Given the description of an element on the screen output the (x, y) to click on. 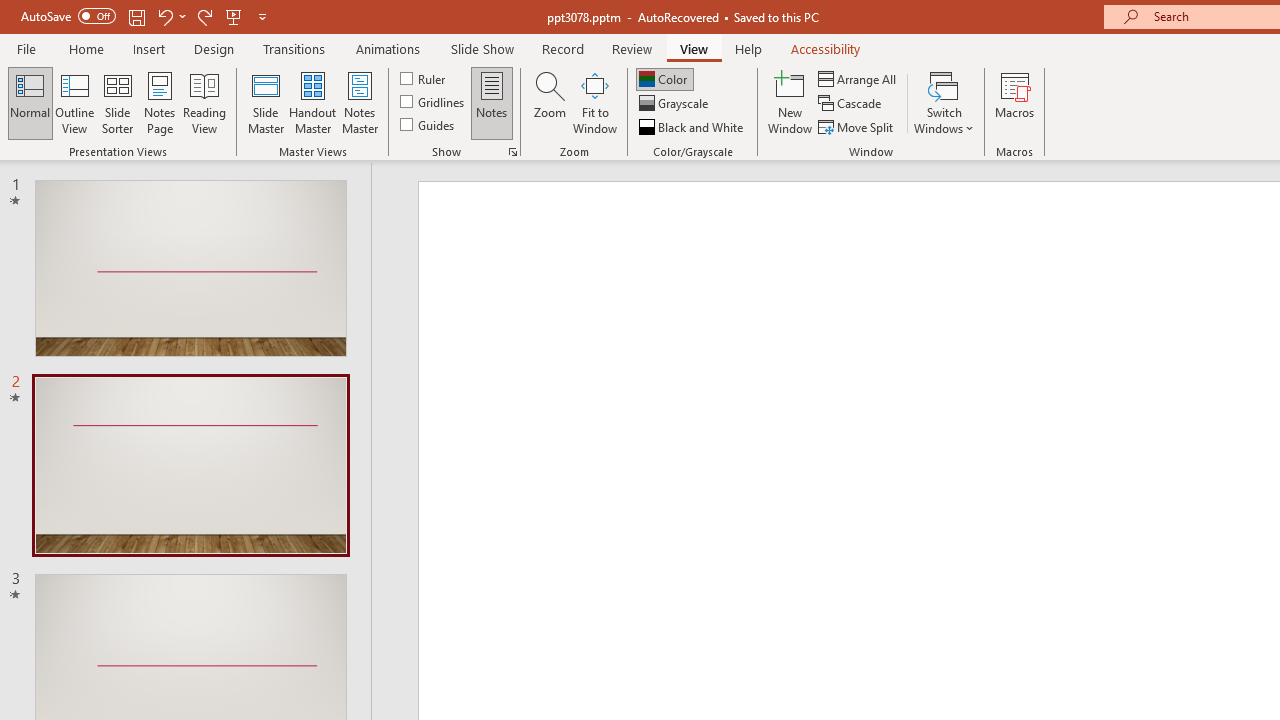
Notes (492, 102)
Gridlines (433, 101)
Macros (1014, 102)
Ruler (423, 78)
Move Split (857, 126)
Notes Page (159, 102)
